Given the description of an element on the screen output the (x, y) to click on. 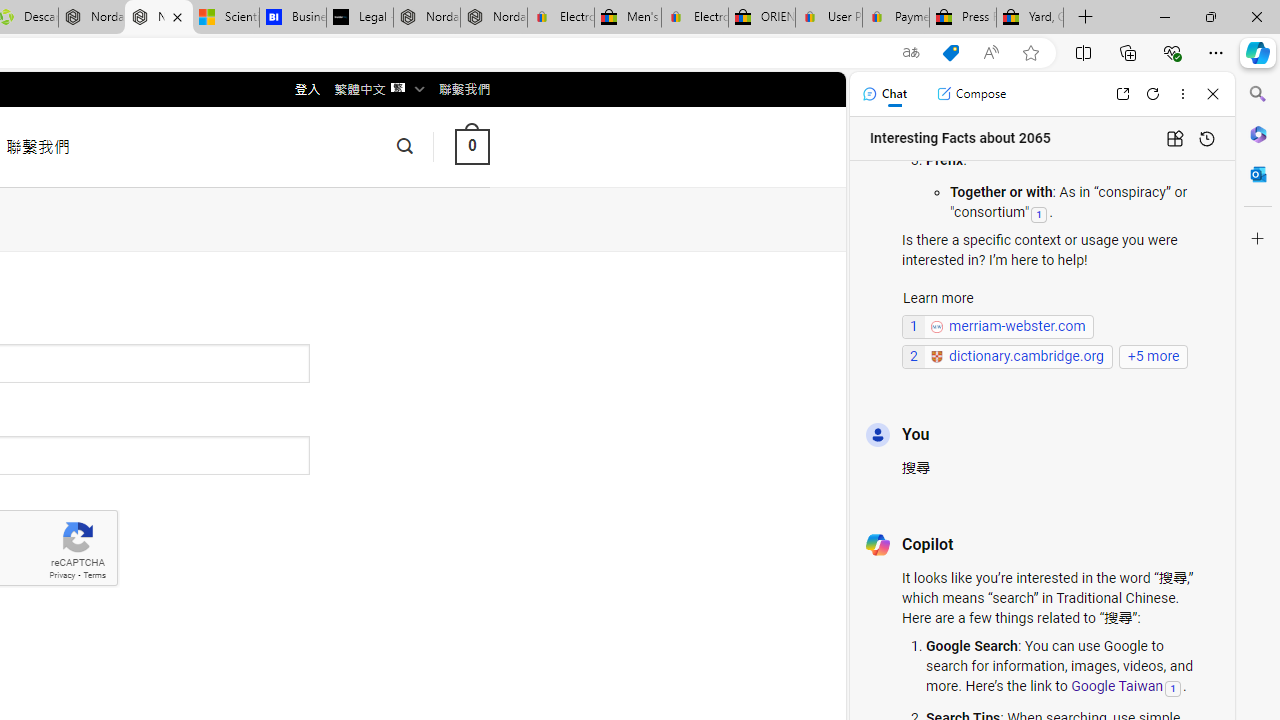
Nordace - My Account (158, 17)
